Given the description of an element on the screen output the (x, y) to click on. 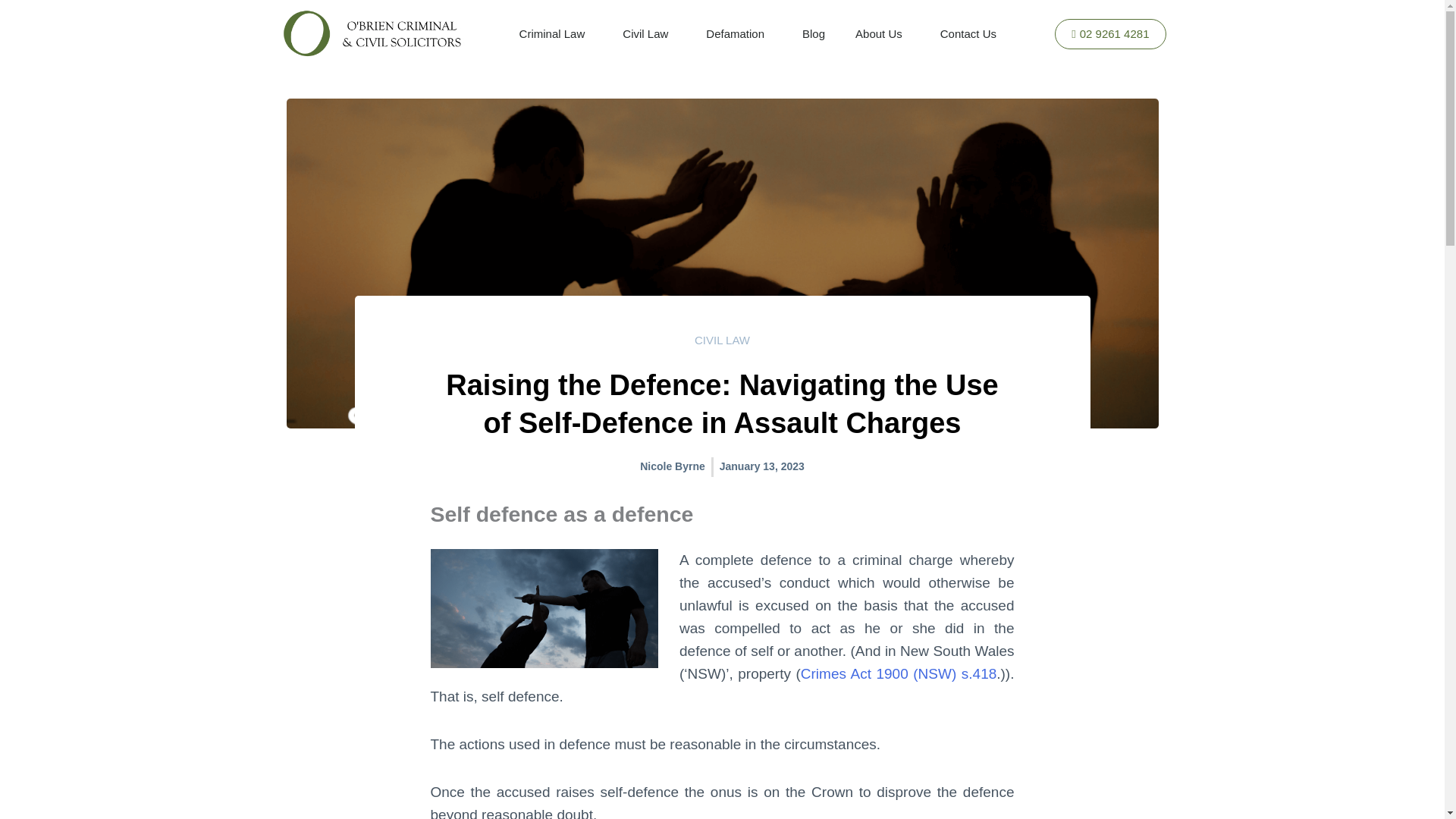
Criminal Law (555, 33)
